Given the description of an element on the screen output the (x, y) to click on. 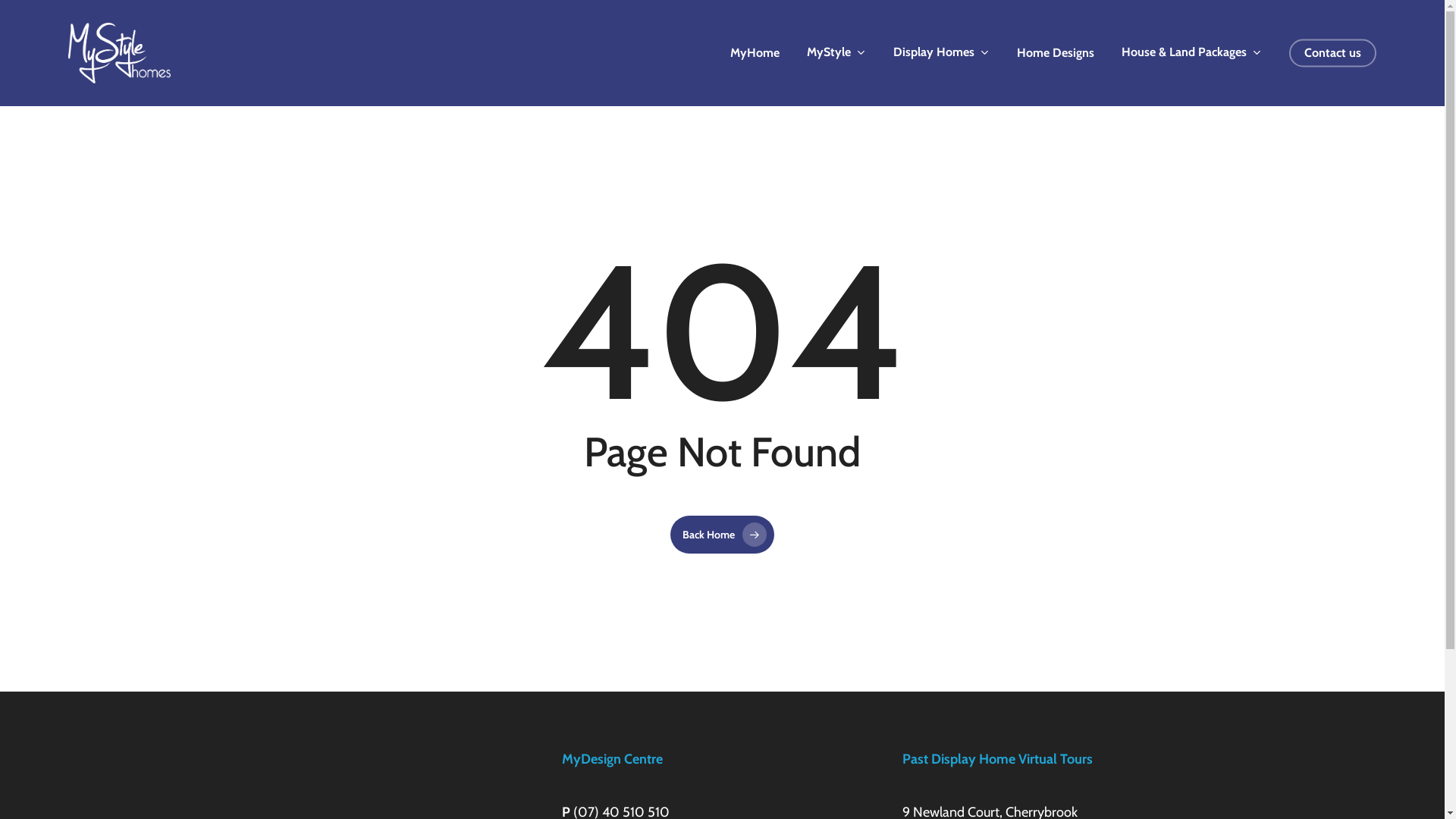
Back Home Element type: text (722, 534)
Contact us Element type: text (1332, 53)
House & Land Packages Element type: text (1191, 52)
Home Designs Element type: text (1055, 53)
Display Homes Element type: text (941, 52)
MyHome Element type: text (754, 53)
MyStyle Element type: text (836, 52)
